Given the description of an element on the screen output the (x, y) to click on. 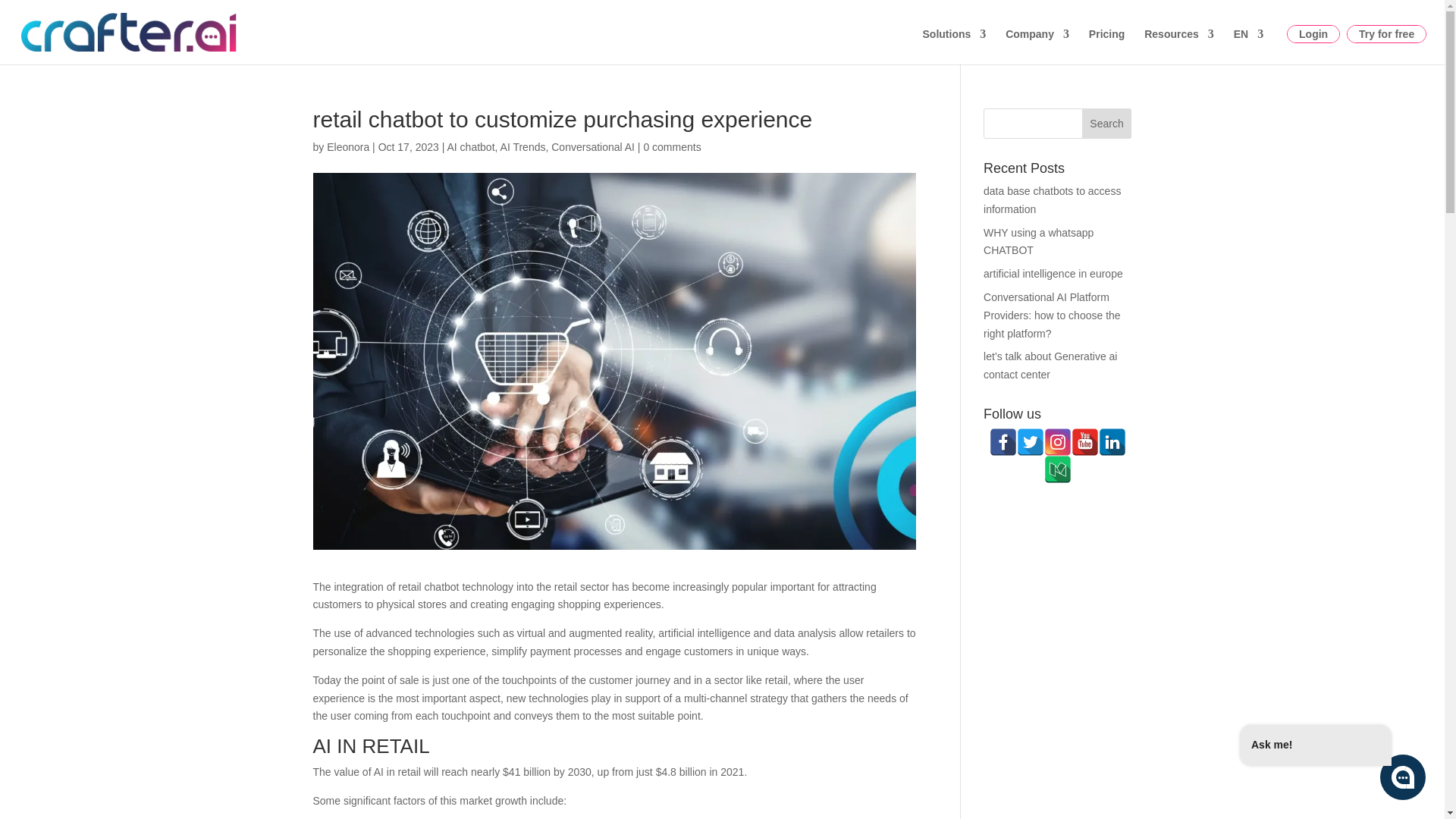
Instagram (1057, 441)
Login (1313, 33)
LinkedIn (1112, 441)
Resources (1179, 46)
Posts by Eleonora (347, 146)
Pricing (1106, 46)
Solutions (953, 46)
Search (1106, 123)
Login (1313, 33)
Register (1386, 33)
Try for free (1386, 33)
Company (1037, 46)
YouTube (1085, 441)
Medium (1057, 469)
Facebook (1003, 441)
